Given the description of an element on the screen output the (x, y) to click on. 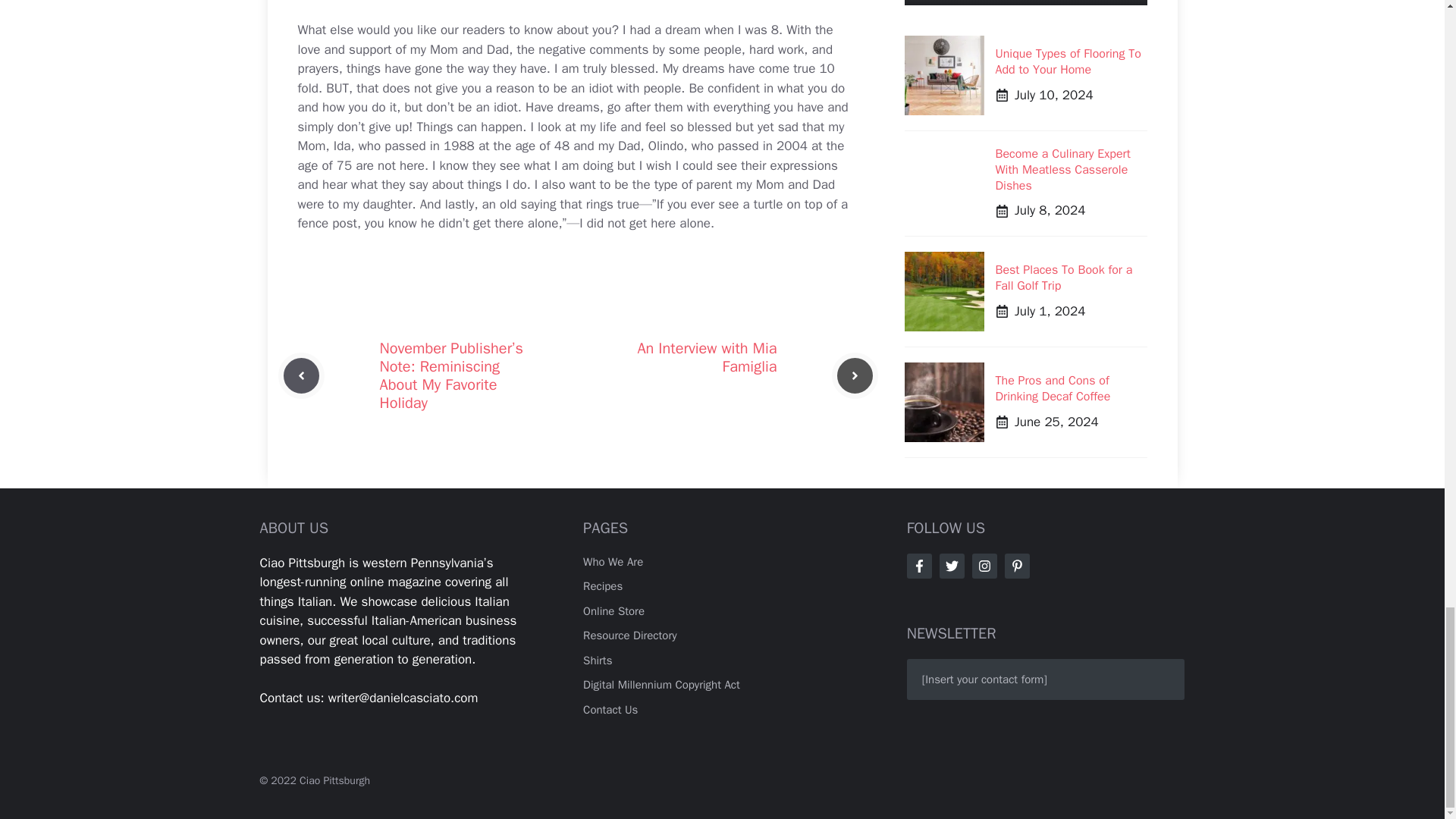
Who We Are (613, 561)
Contact Us (610, 709)
Recipes (603, 585)
Shirts (597, 660)
Online Store (614, 611)
An Interview with Mia Famiglia (706, 357)
Resource Directory (630, 635)
Digital Millennium Copyright Act (661, 684)
